Given the description of an element on the screen output the (x, y) to click on. 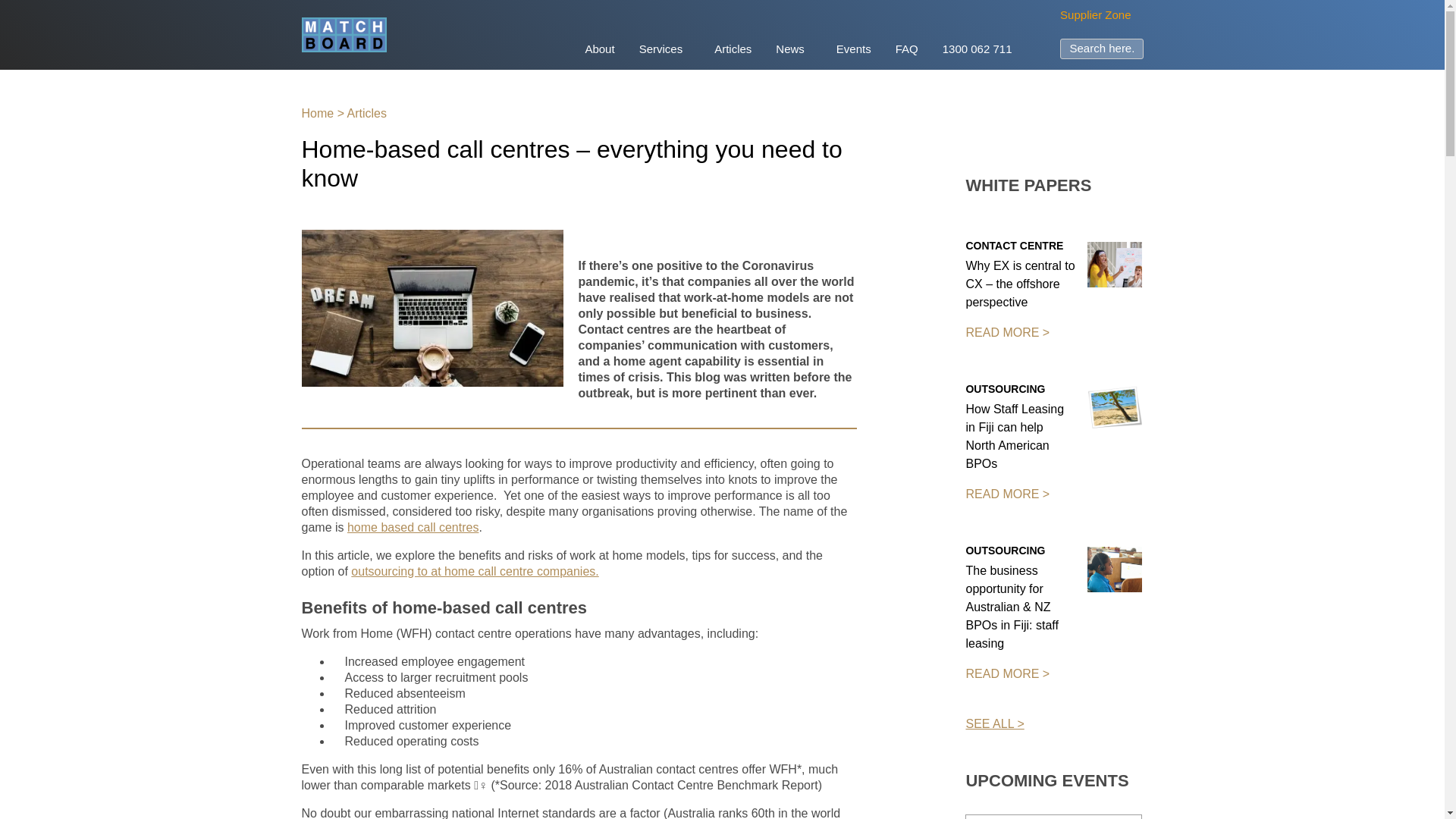
Articles (731, 49)
How Staff Leasing in Fiji can help North American BPOs (1114, 407)
1300 062 711 (977, 49)
Supplier Zone (1095, 14)
Events (853, 49)
FAQ (906, 49)
About (599, 49)
Services (665, 49)
News (793, 49)
